Given the description of an element on the screen output the (x, y) to click on. 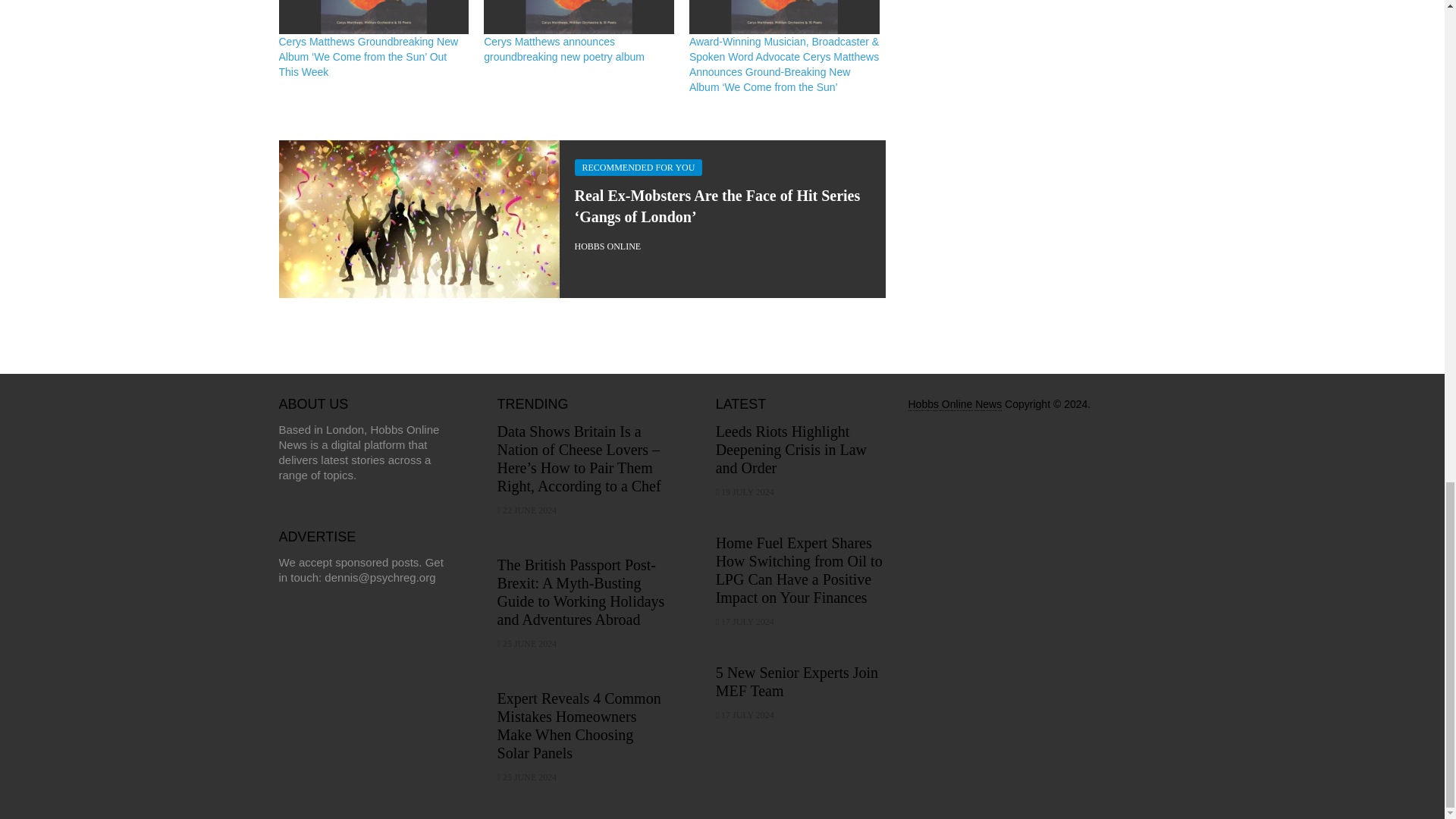
Cerys Matthews announces groundbreaking new poetry album (578, 17)
